Given the description of an element on the screen output the (x, y) to click on. 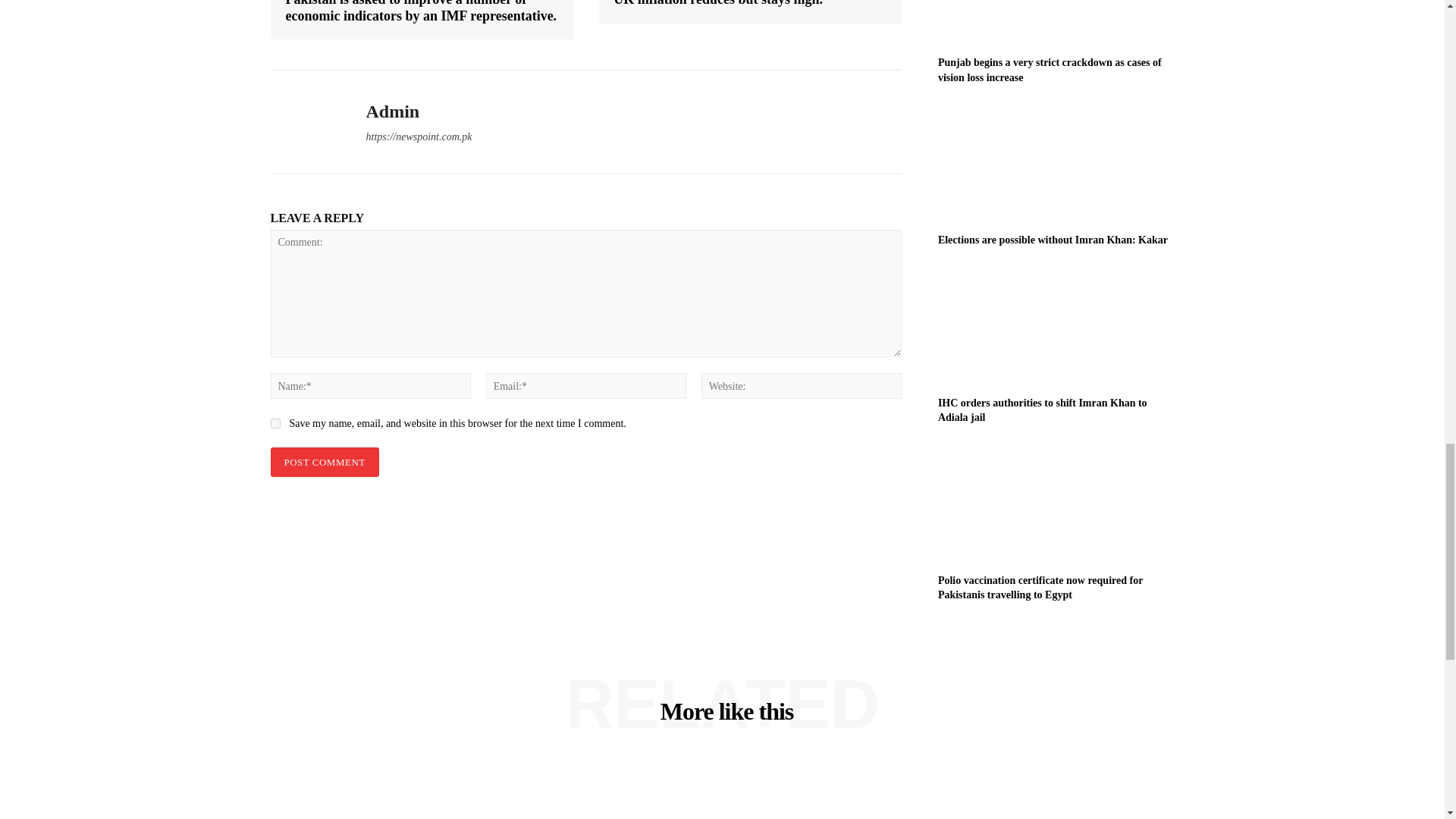
yes (274, 423)
admin (305, 121)
Post Comment (323, 461)
